Given the description of an element on the screen output the (x, y) to click on. 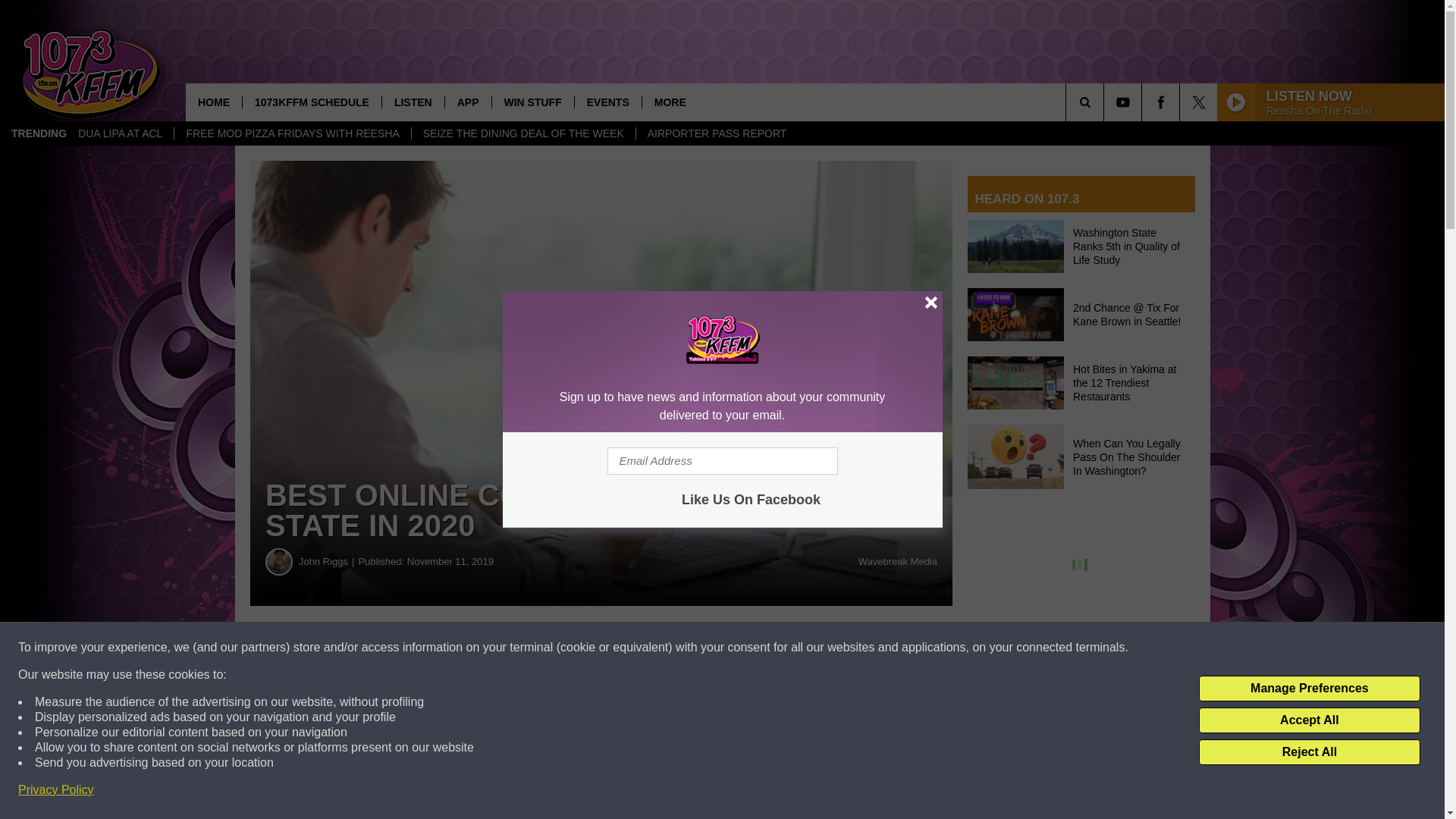
APP (468, 102)
Share on Facebook (460, 647)
FREE MOD PIZZA FRIDAYS WITH REESHA (291, 133)
SEARCH (1106, 102)
DUA LIPA AT ACL (119, 133)
LISTEN (412, 102)
Accept All (1309, 720)
SEIZE THE DINING DEAL OF THE WEEK (522, 133)
Share on Twitter (741, 647)
Reject All (1309, 751)
SEARCH (1106, 102)
Email Address (722, 461)
1073KFFM SCHEDULE (311, 102)
Privacy Policy (55, 789)
AIRPORTER PASS REPORT (715, 133)
